Given the description of an element on the screen output the (x, y) to click on. 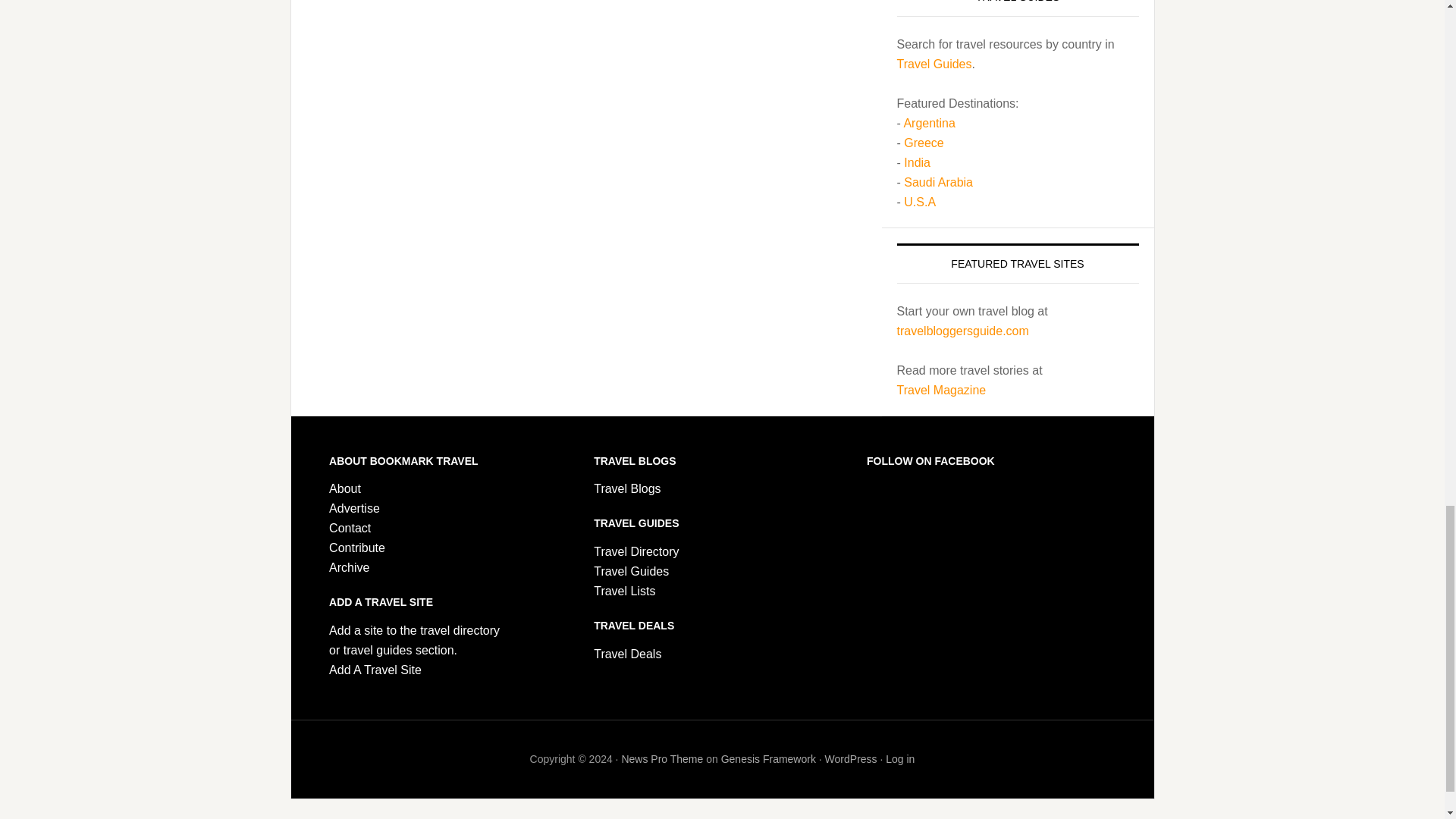
Travel Lists (624, 590)
Contact (350, 527)
Travel Magazine (940, 390)
About (345, 488)
Greece (923, 142)
travelbloggersguide.com (961, 330)
Argentina (928, 123)
India (917, 162)
Add A Travel Site (375, 669)
Saudi Arabia (938, 182)
Contribute (357, 547)
Archive (349, 567)
Travel Directory (636, 551)
Advertise (354, 508)
Travel Blogs (627, 488)
